Given the description of an element on the screen output the (x, y) to click on. 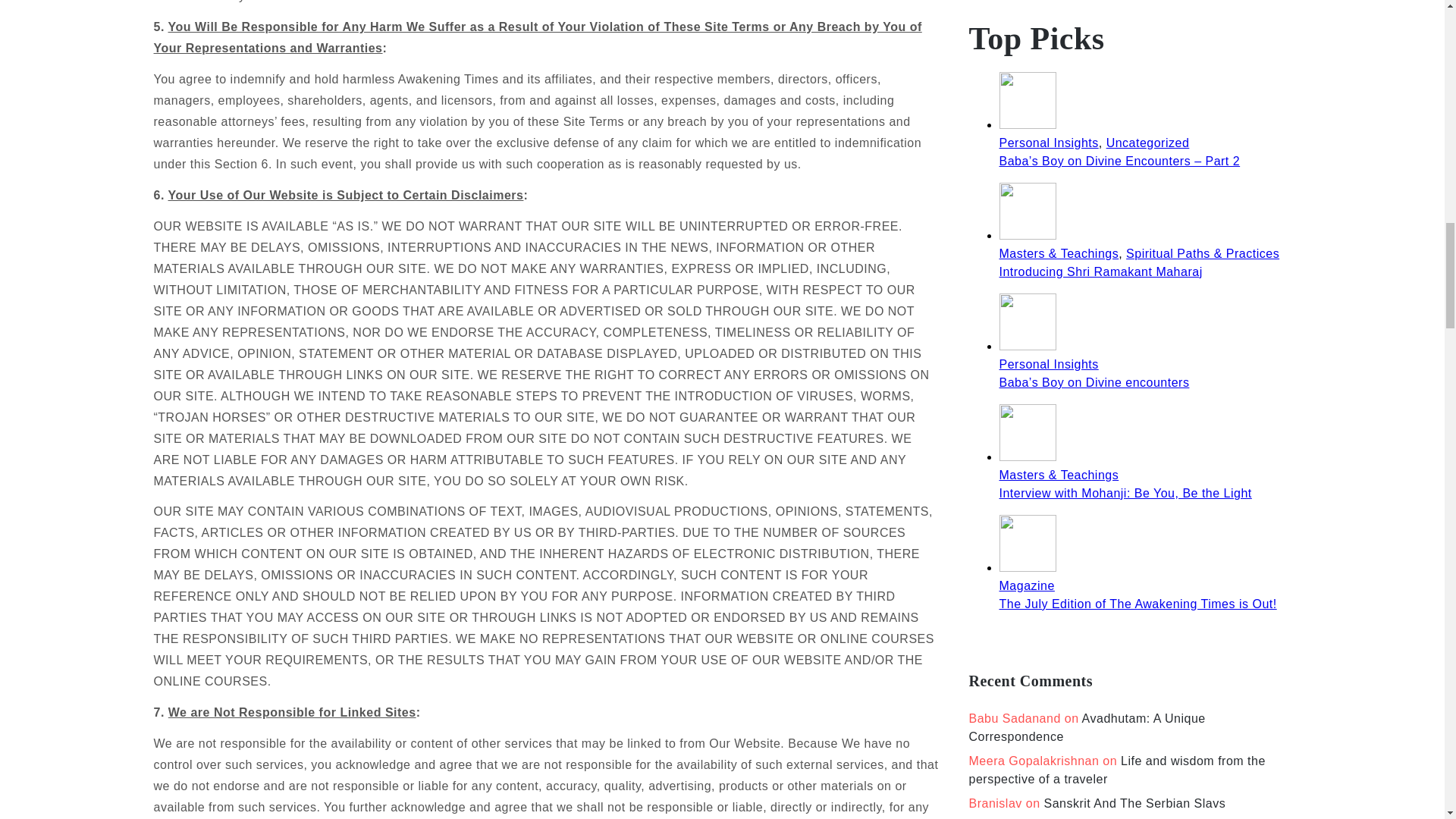
Avadhutam: A Unique Correspondence (1087, 726)
Sanskrit And The Serbian Slavs (1134, 802)
Life and wisdom from the perspective of a traveler (1117, 769)
